Given the description of an element on the screen output the (x, y) to click on. 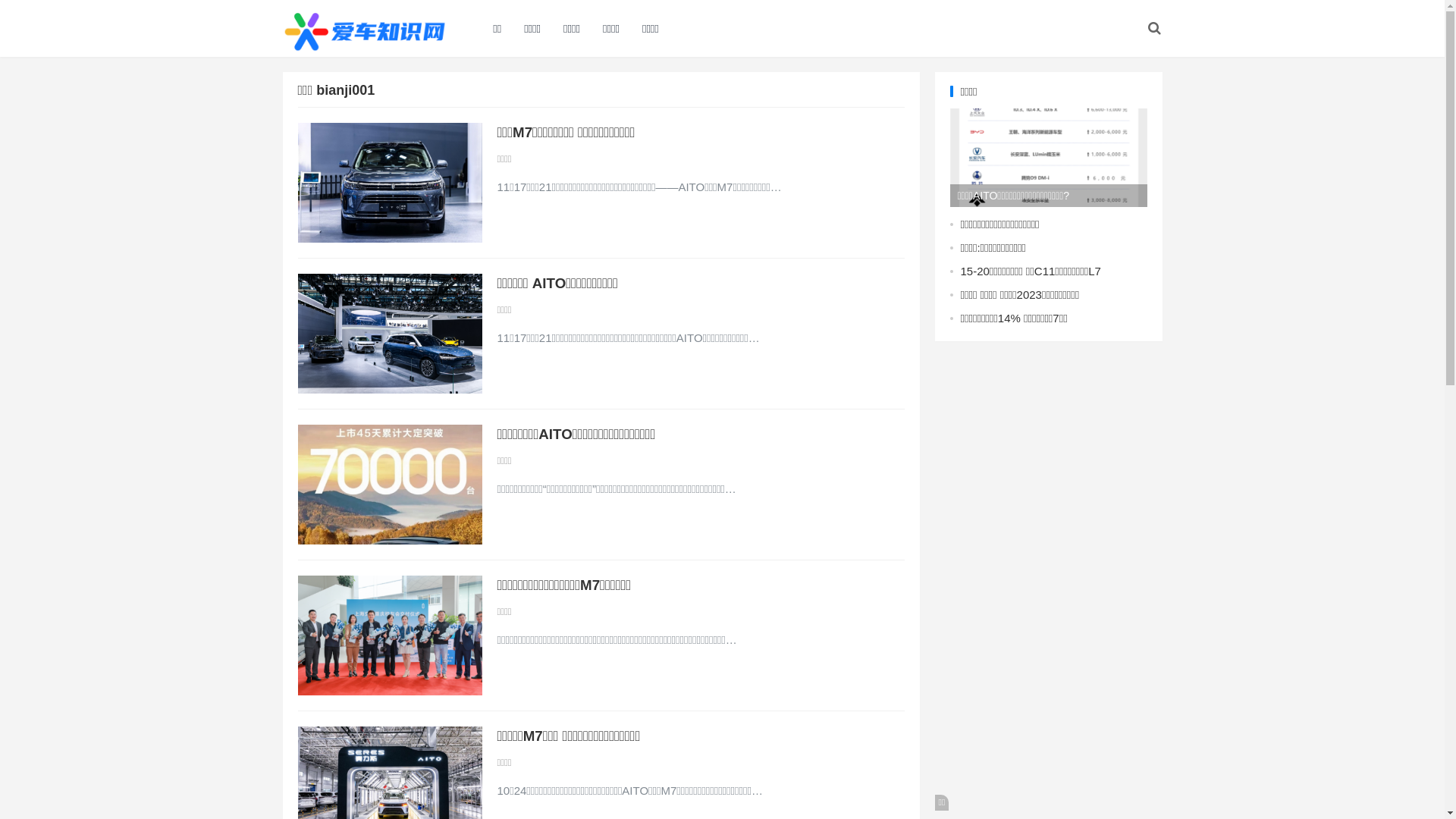
Advertisement Element type: hover (1047, 583)
